Given the description of an element on the screen output the (x, y) to click on. 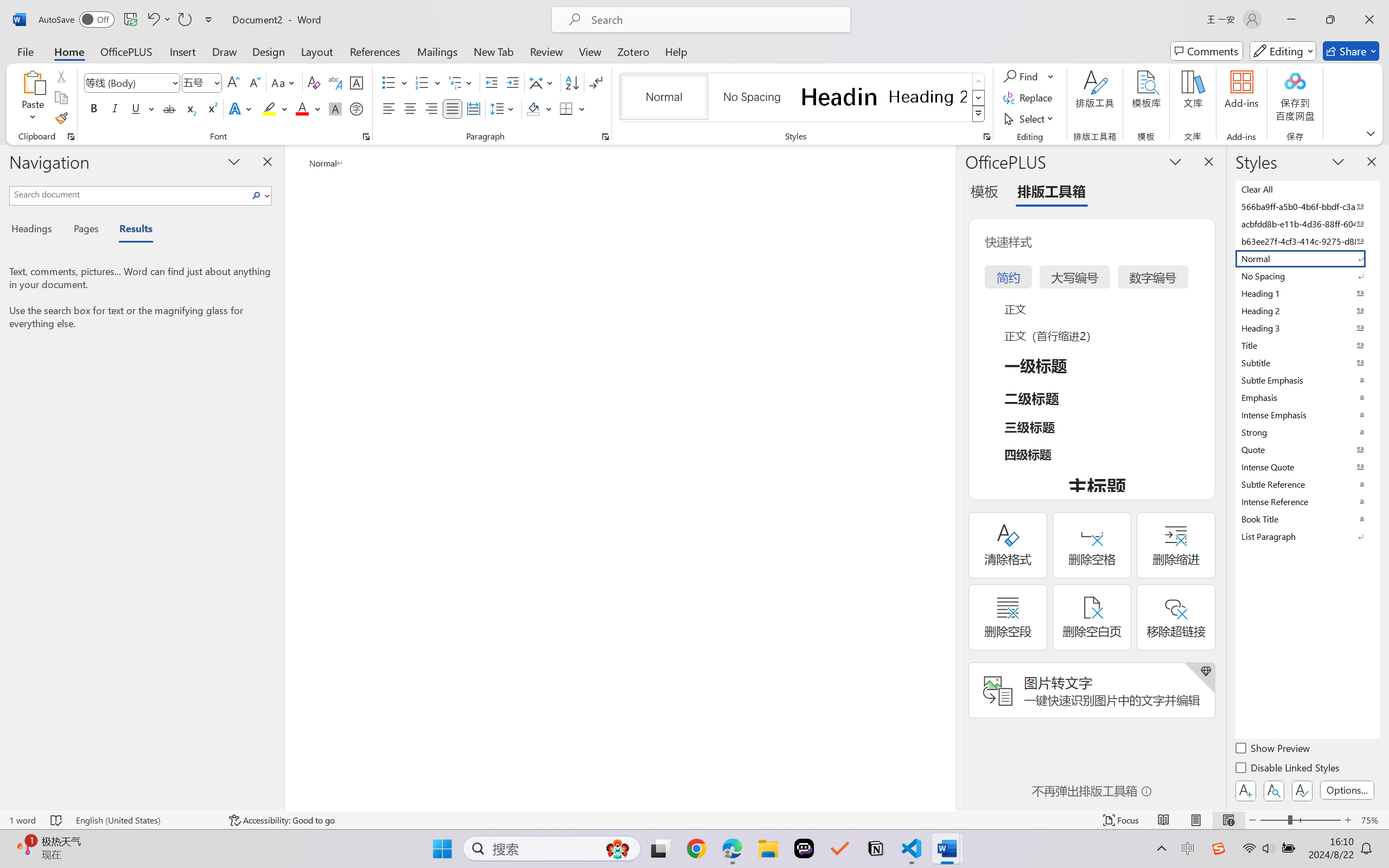
Spelling and Grammar Check No Errors (56, 819)
Share (1350, 51)
Draw (224, 51)
Center (409, 108)
Text Highlight Color Yellow (269, 108)
Ribbon Display Options (1370, 132)
Class: NetUIImage (978, 114)
Design (268, 51)
Headings (35, 229)
Distributed (473, 108)
Subtle Reference (1306, 484)
